Given the description of an element on the screen output the (x, y) to click on. 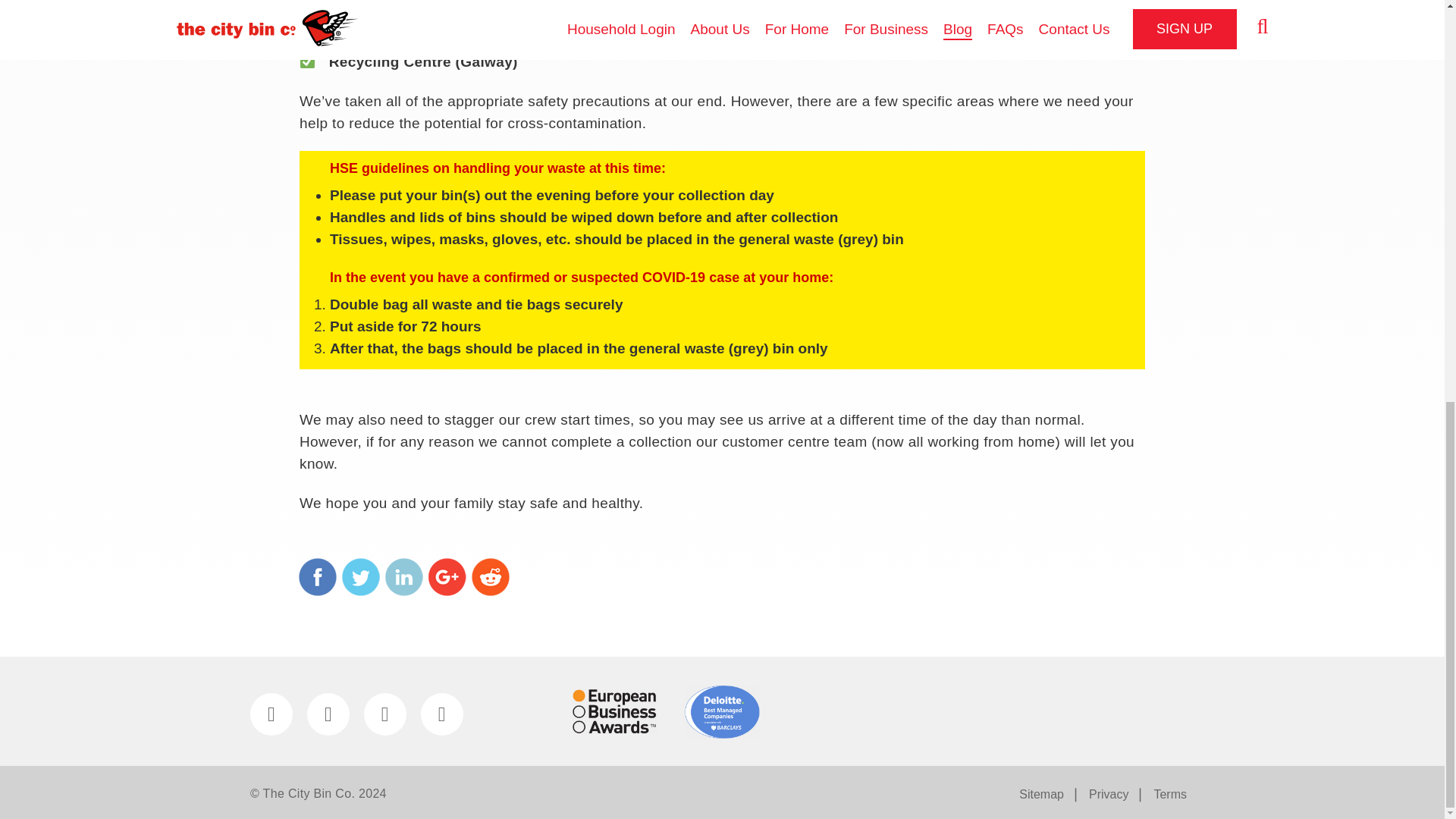
reddit (490, 576)
linkedin (403, 576)
facebook (317, 576)
google (447, 576)
Privacy (1108, 795)
Sitemap (1041, 795)
twitter (360, 576)
Terms (1169, 795)
